Given the description of an element on the screen output the (x, y) to click on. 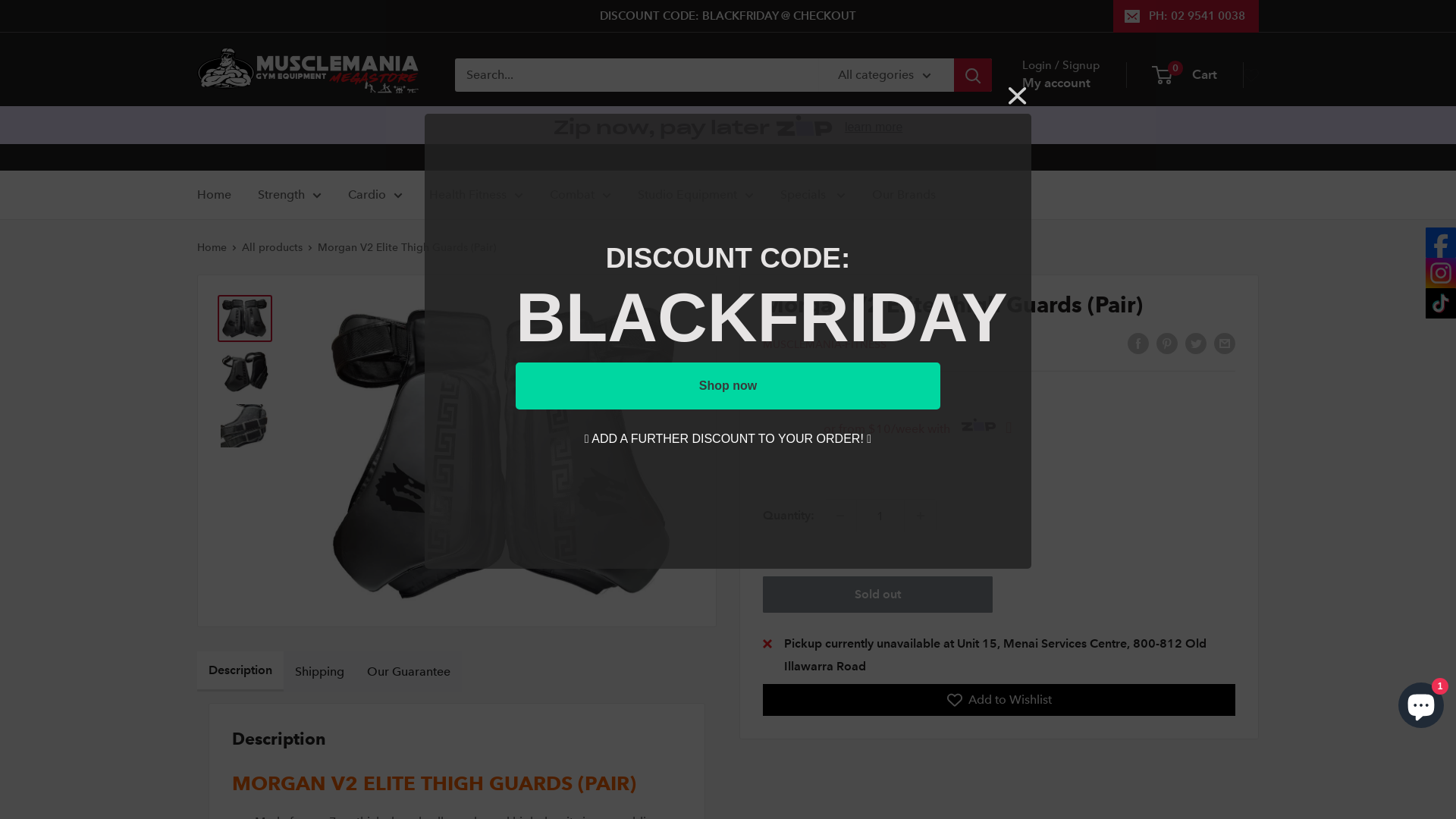
MUSCLEMANIA-FITNESS Element type: text (824, 343)
Musclemania Fitness MegaStore Element type: text (310, 74)
Decrease quantity by 1 Element type: hover (840, 515)
Strength Element type: text (289, 194)
PH: 02 9541 0038 Element type: text (1185, 15)
My account Element type: text (1056, 83)
Shop now Element type: text (727, 385)
Combat Element type: text (580, 194)
Our Brands Element type: text (903, 194)
Home Element type: text (214, 194)
Shopify online store chat Element type: hover (1420, 702)
Studio Equipment Element type: text (695, 194)
Close Element type: hover (1017, 100)
Specials Element type: text (812, 194)
All products Element type: text (271, 247)
Increase quantity by 1 Element type: hover (920, 515)
Home Element type: text (211, 247)
Health Fitness Element type: text (476, 194)
Cardio Element type: text (375, 194)
0
Cart Element type: text (1185, 74)
Sold out Element type: text (877, 594)
